Given the description of an element on the screen output the (x, y) to click on. 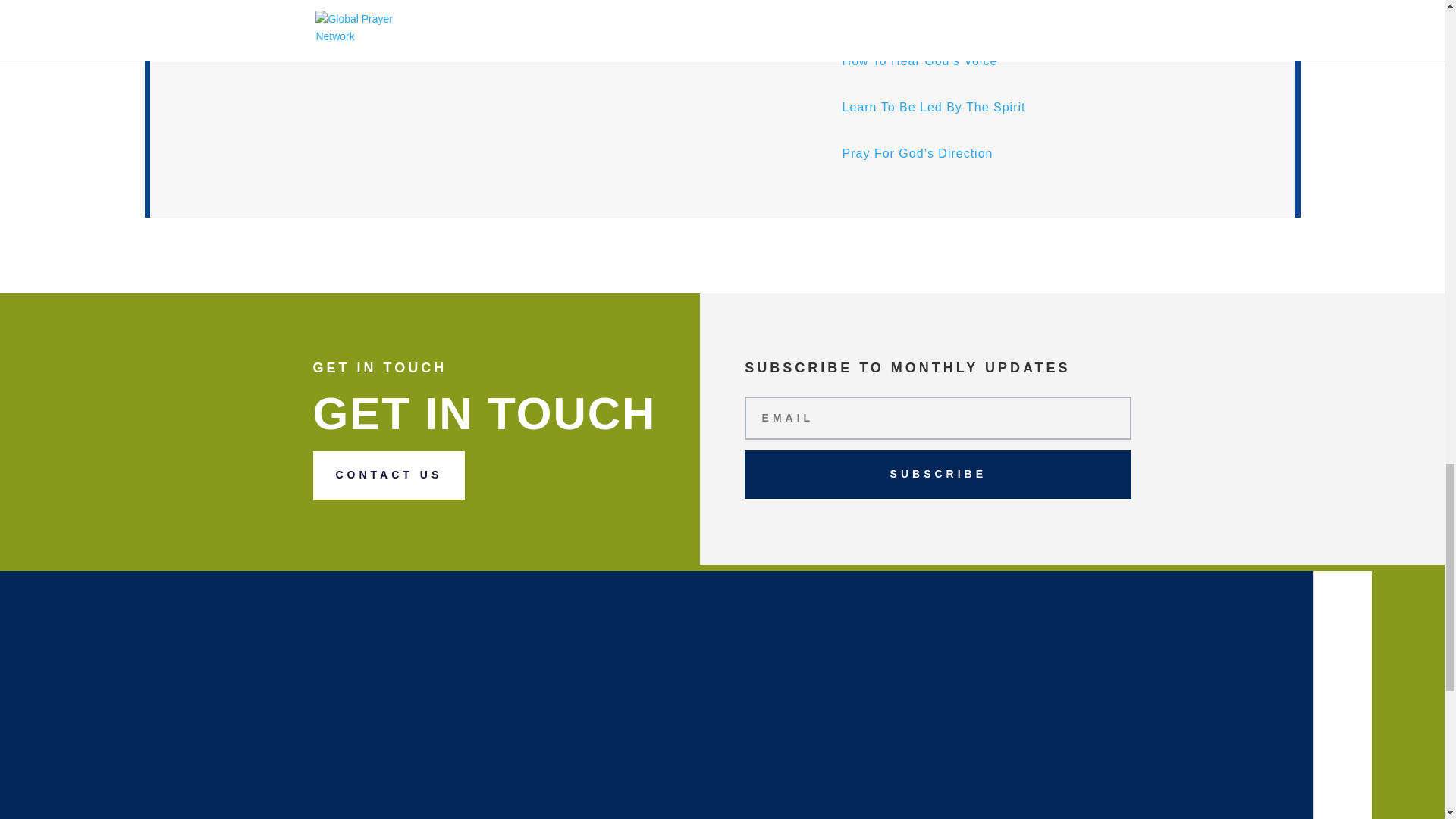
Learn To Be Led By The Spirit (934, 106)
CONTACT US (388, 475)
SUBSCRIBE (937, 474)
